Given the description of an element on the screen output the (x, y) to click on. 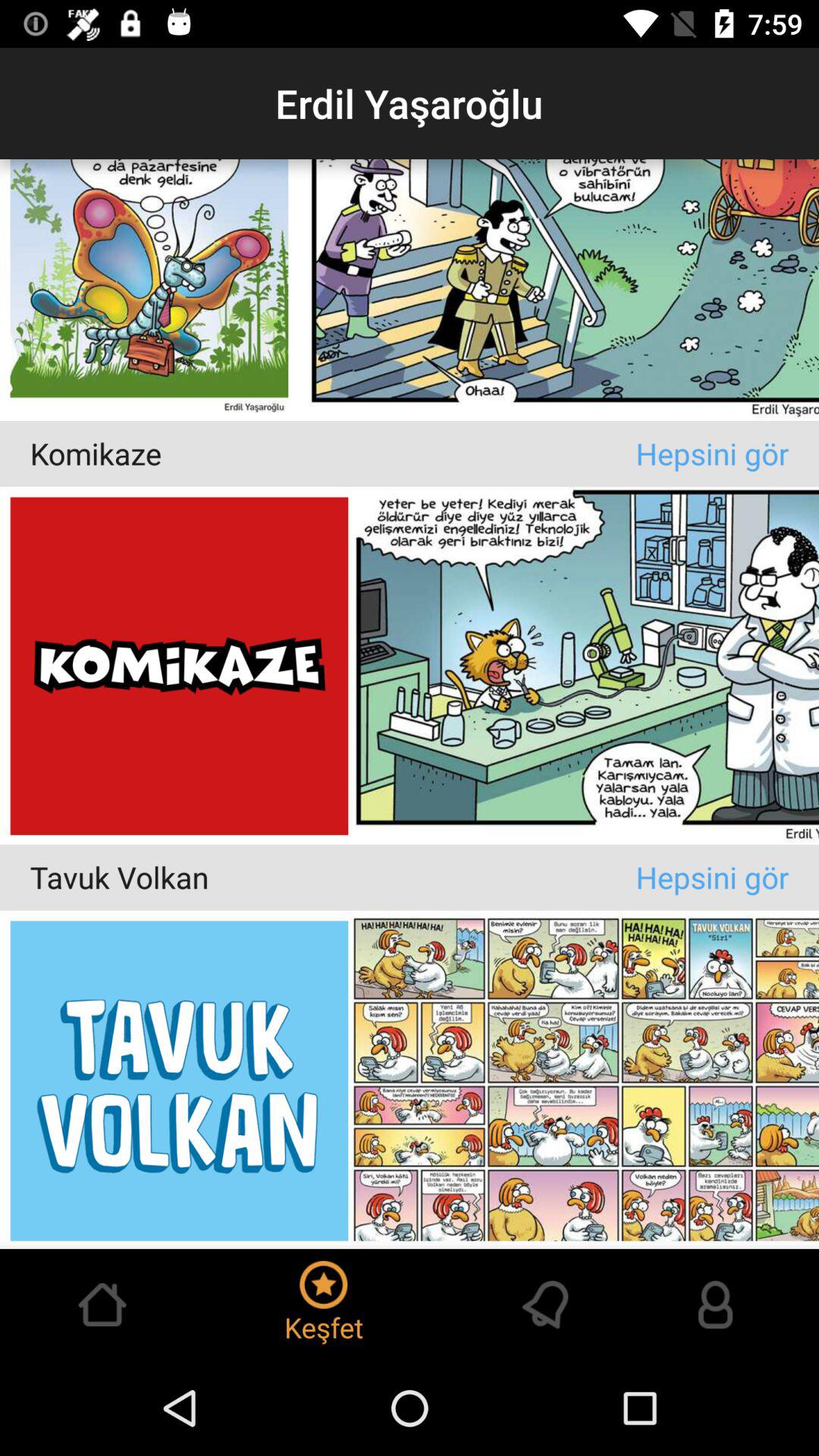
jump to tavuk volkan (332, 877)
